Given the description of an element on the screen output the (x, y) to click on. 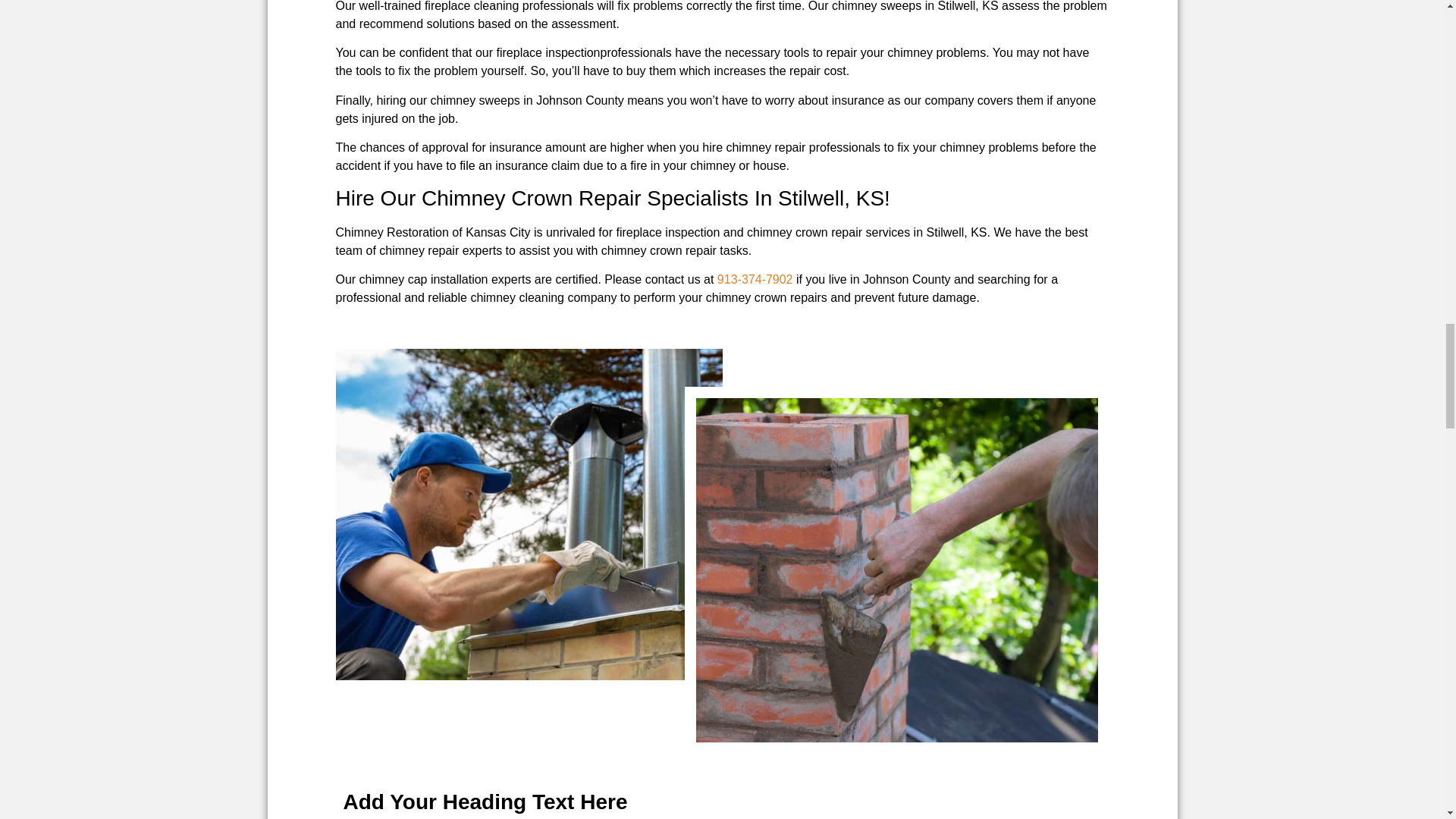
Worker,On,The,Roof,Installing,Tin,Cap,On,The,Brick (528, 514)
